Given the description of an element on the screen output the (x, y) to click on. 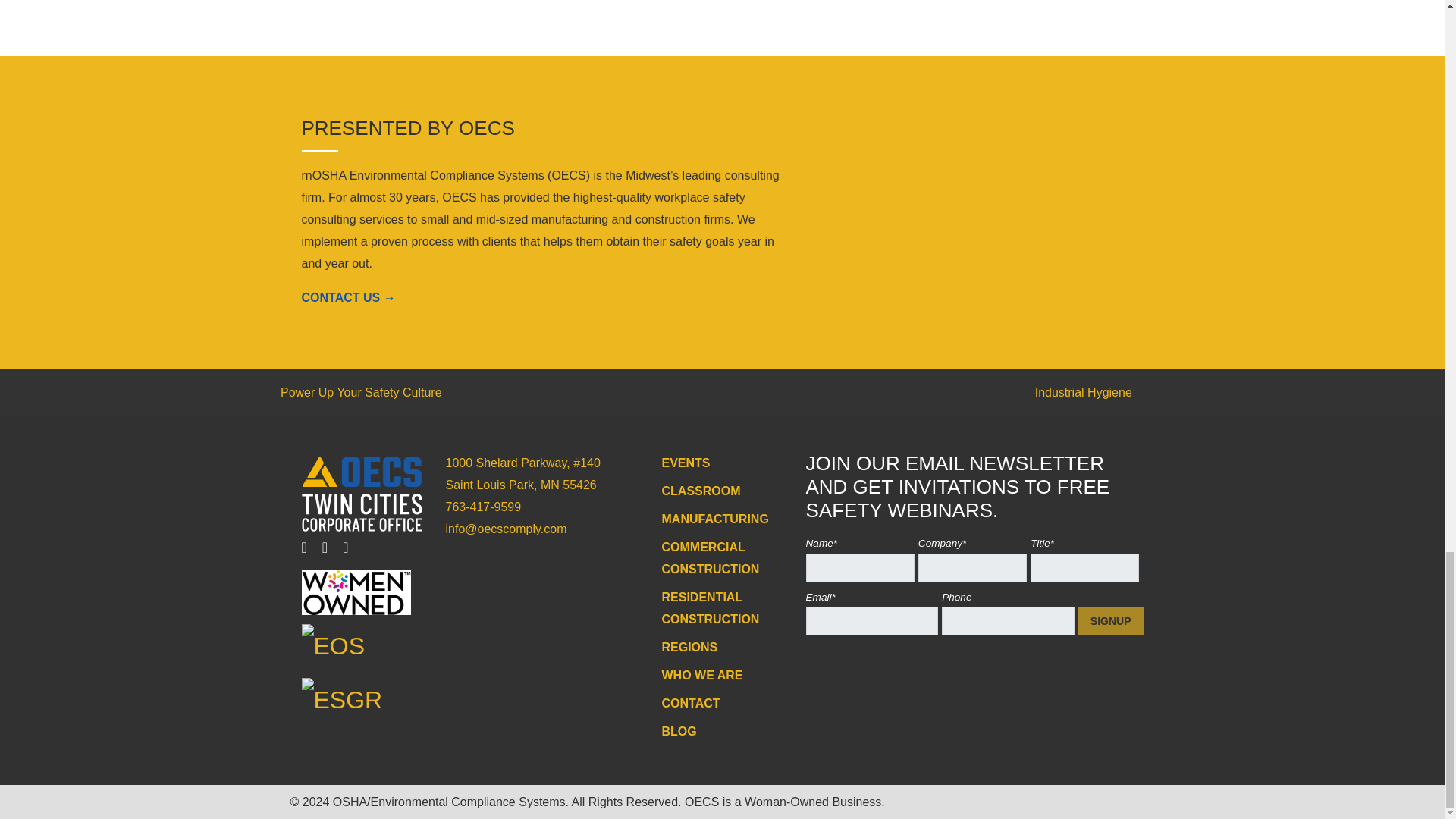
Signup (1110, 620)
